Given the description of an element on the screen output the (x, y) to click on. 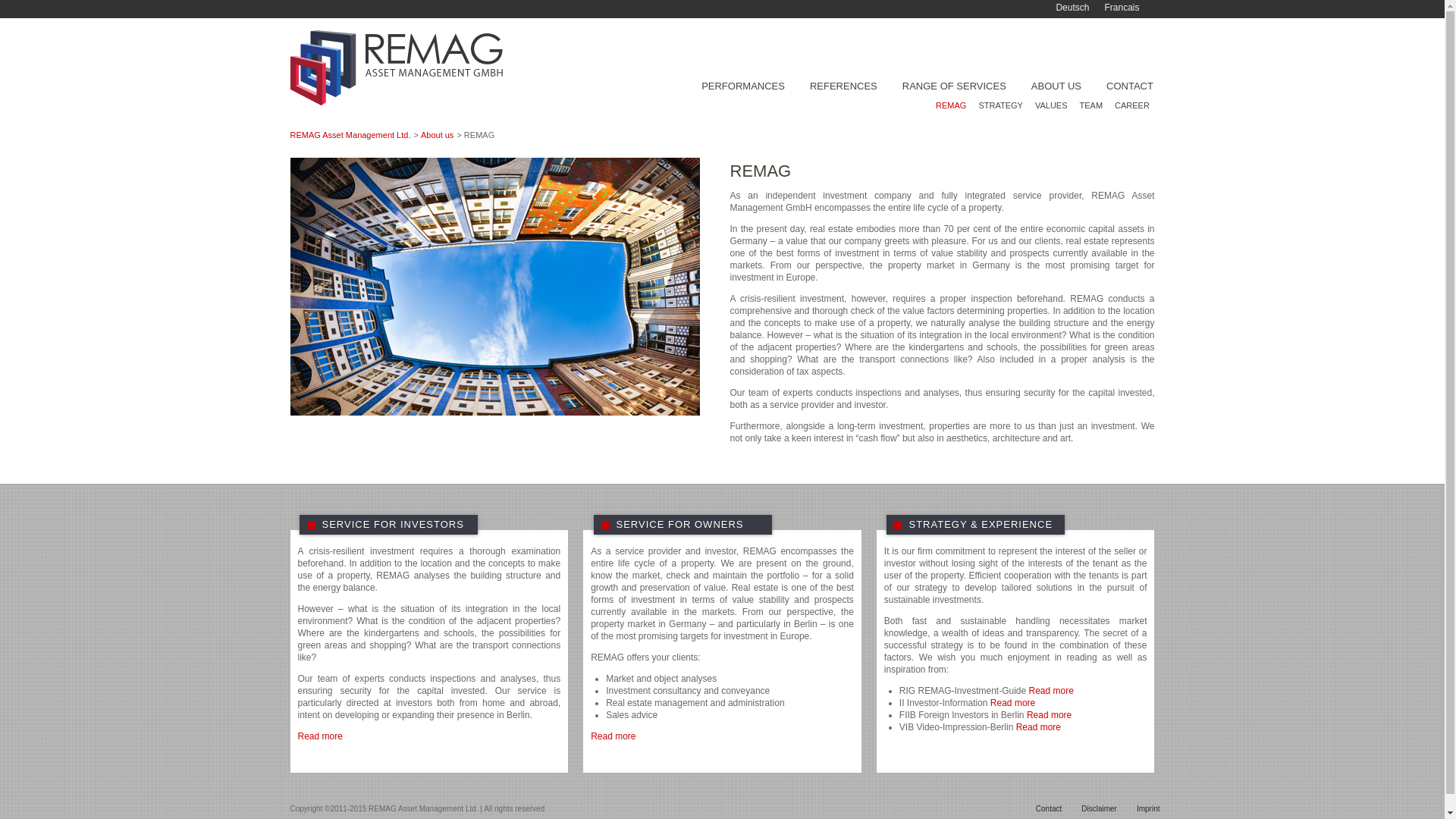
Read more (319, 736)
RANGE OF SERVICES (952, 86)
Strategy (1000, 105)
Range of services (952, 86)
Francais (1120, 7)
Read more (1038, 726)
About us (1055, 86)
REMAG (493, 286)
Contact (1040, 811)
Read more (1012, 702)
CAREER (1131, 105)
REMAG Asset Management Ltd. (349, 134)
Read more (612, 736)
VALUES (1050, 105)
REFERENCES (841, 86)
